Given the description of an element on the screen output the (x, y) to click on. 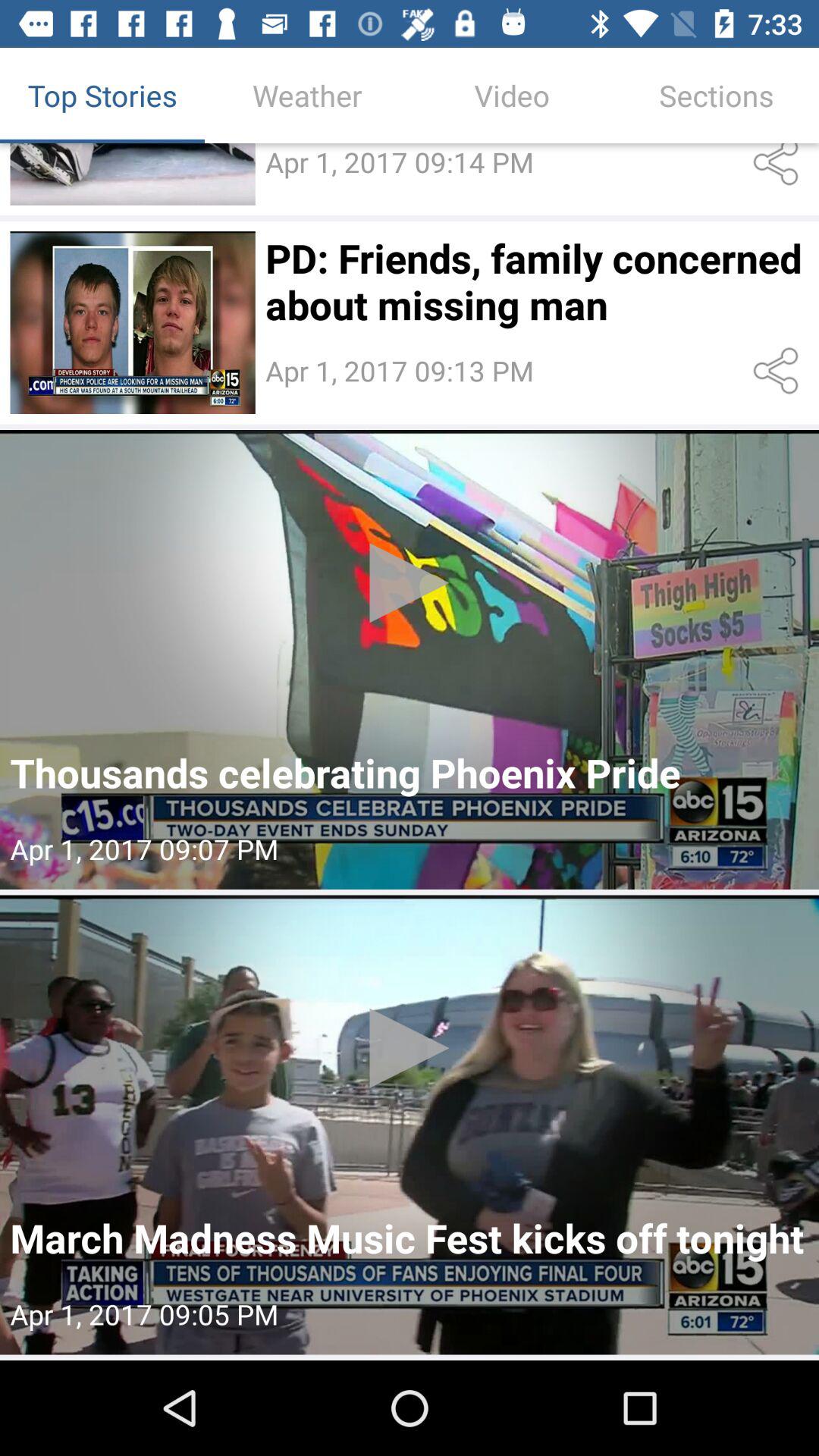
share the article (778, 370)
